Given the description of an element on the screen output the (x, y) to click on. 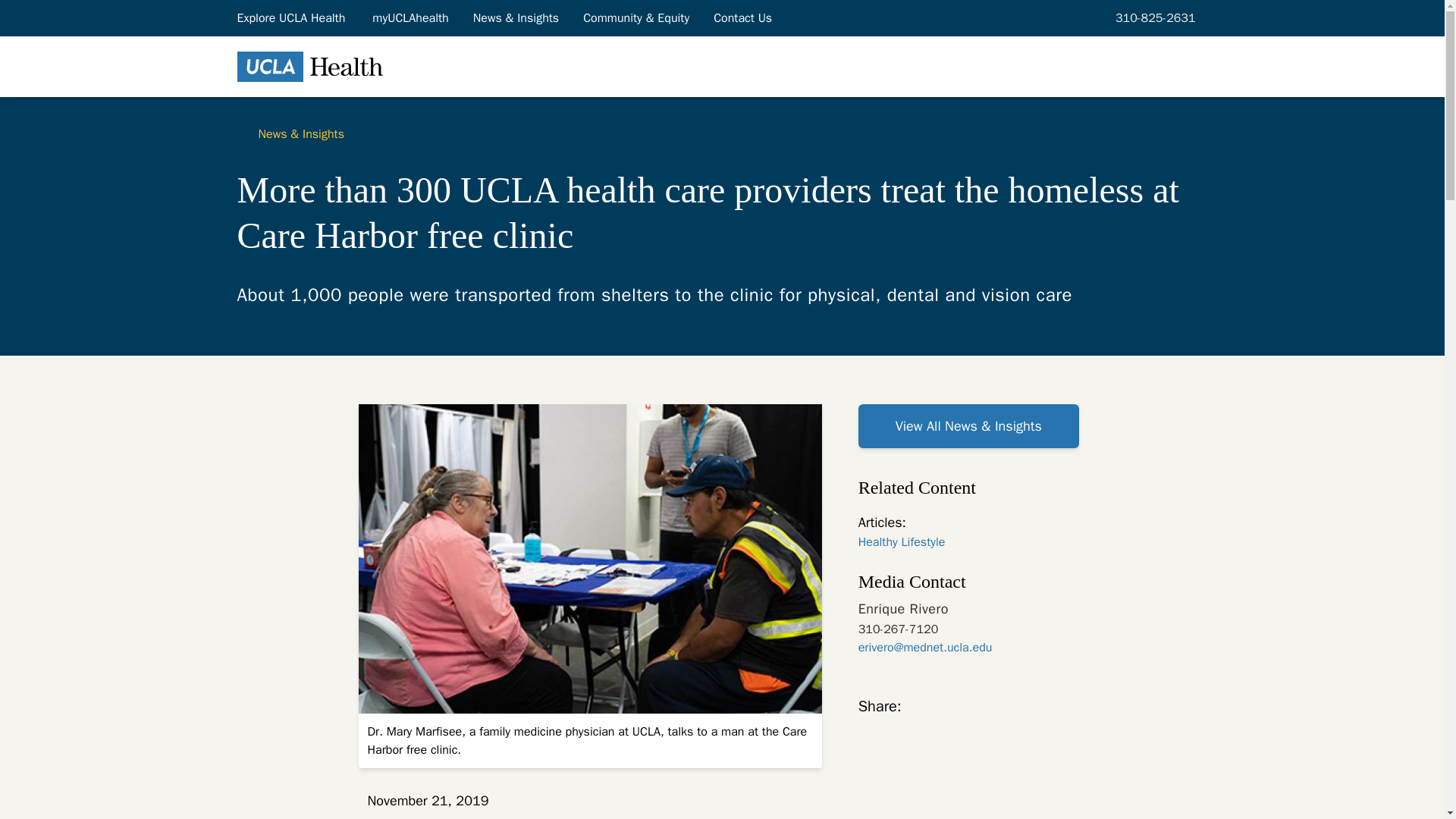
Explore UCLA Health (291, 17)
310-825-2631 (1152, 17)
myUCLAhealth Login. (409, 17)
myUCLAhealth (409, 17)
Contact Us (742, 17)
